Given the description of an element on the screen output the (x, y) to click on. 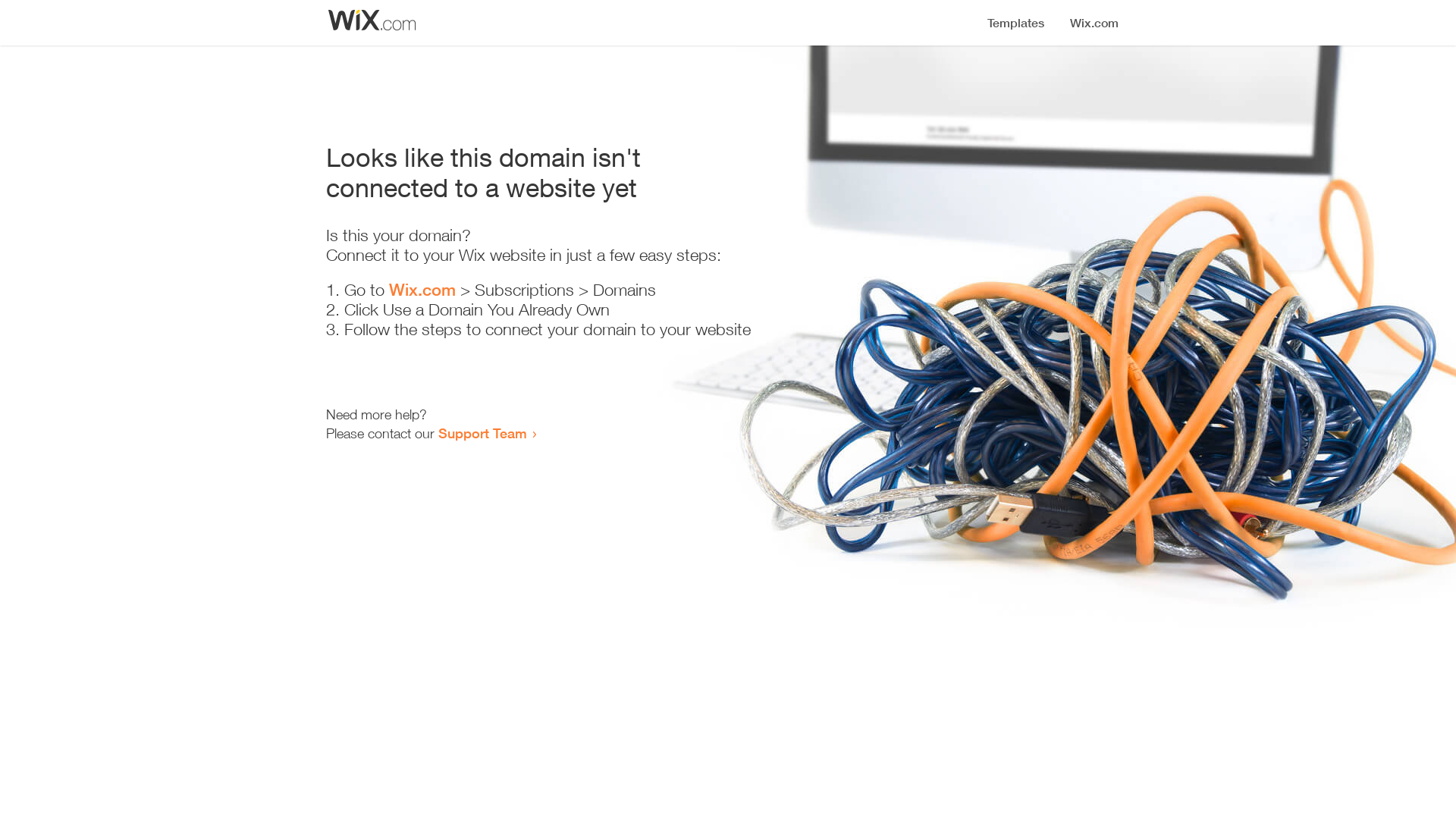
Support Team Element type: text (482, 432)
Wix.com Element type: text (422, 289)
